Given the description of an element on the screen output the (x, y) to click on. 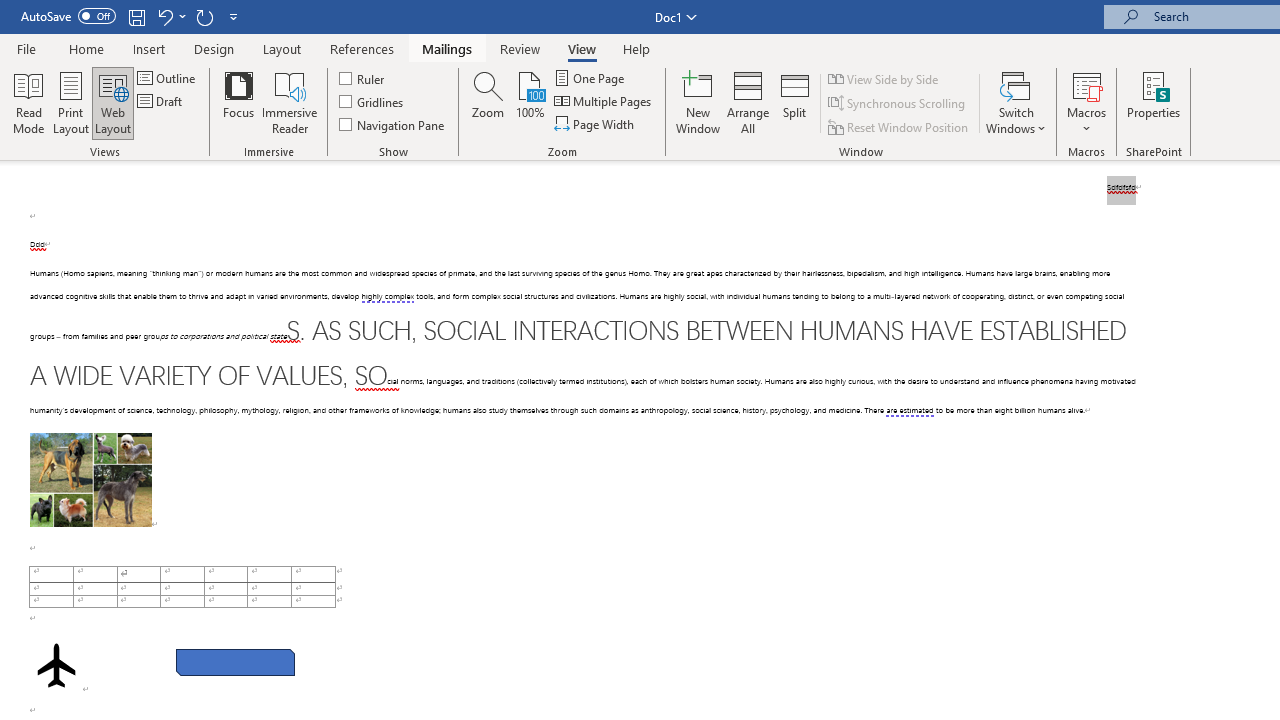
Immersive Reader (289, 102)
Switch Windows (1016, 102)
Reset Window Position (900, 126)
View Side by Side (884, 78)
Undo Paragraph Alignment (170, 15)
New Window (698, 102)
Split (795, 102)
